Given the description of an element on the screen output the (x, y) to click on. 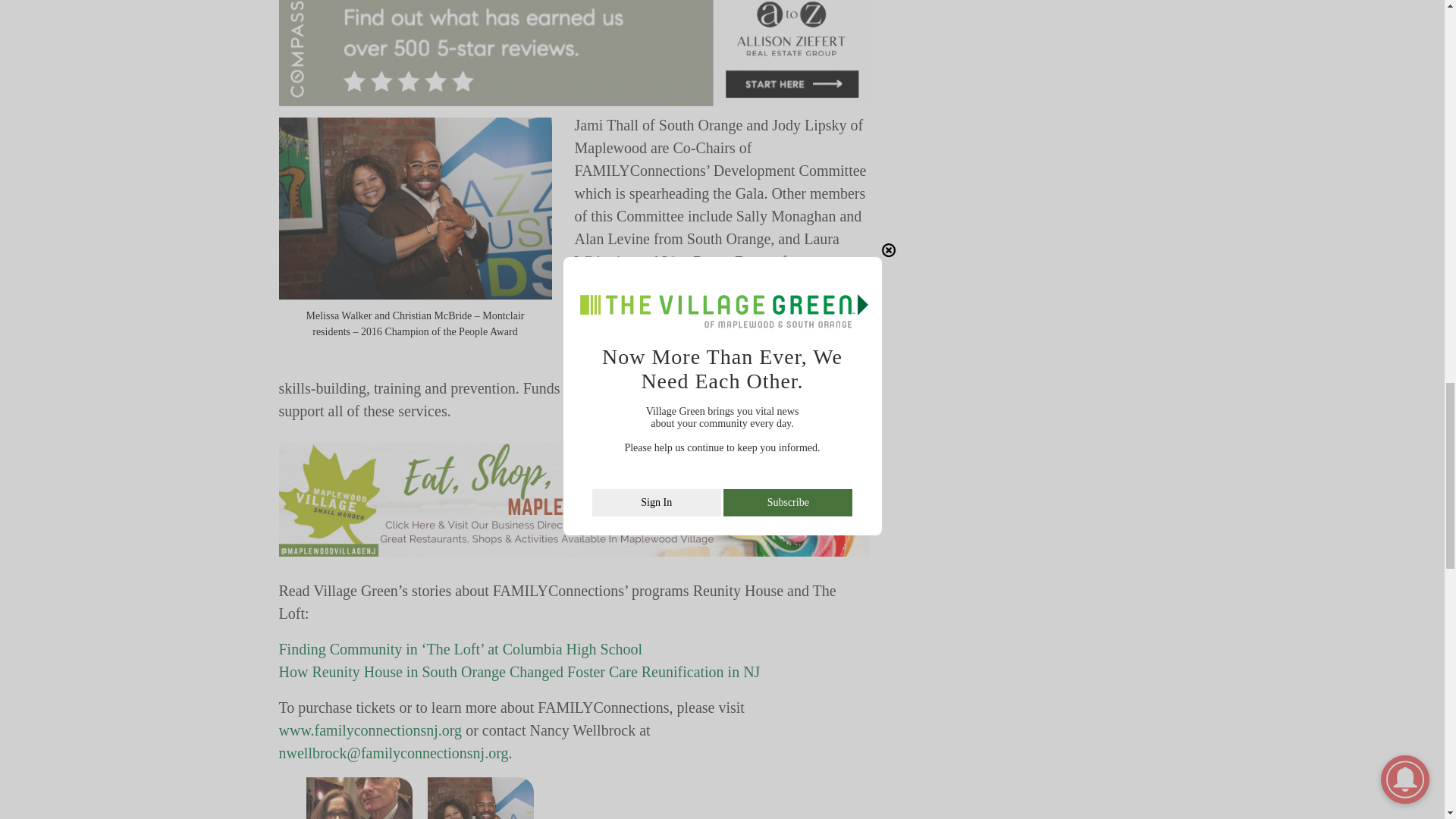
August 2024 (574, 53)
Eat, Shop, Play (574, 499)
